Given the description of an element on the screen output the (x, y) to click on. 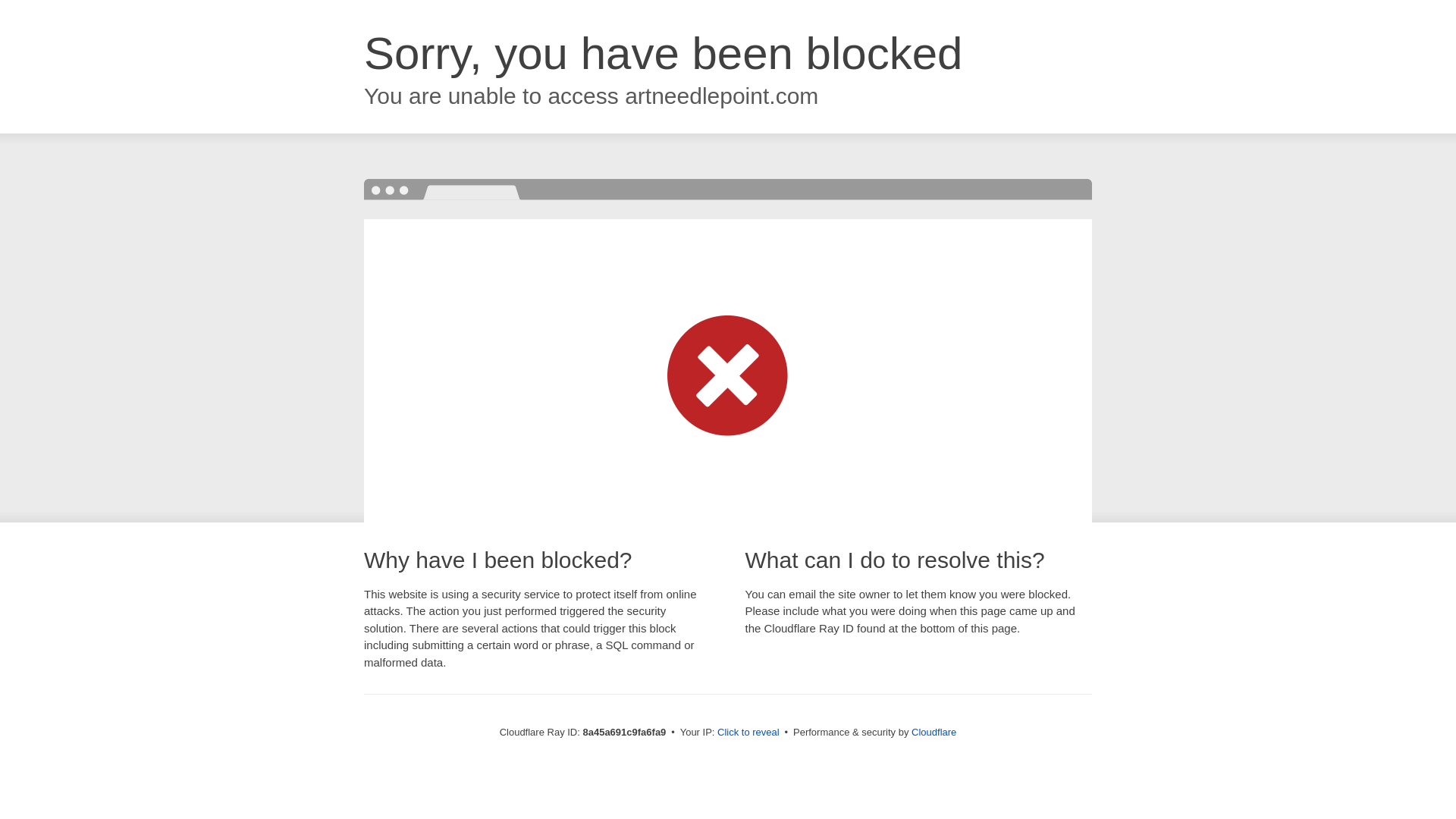
Click to reveal (747, 732)
Cloudflare (933, 731)
